Given the description of an element on the screen output the (x, y) to click on. 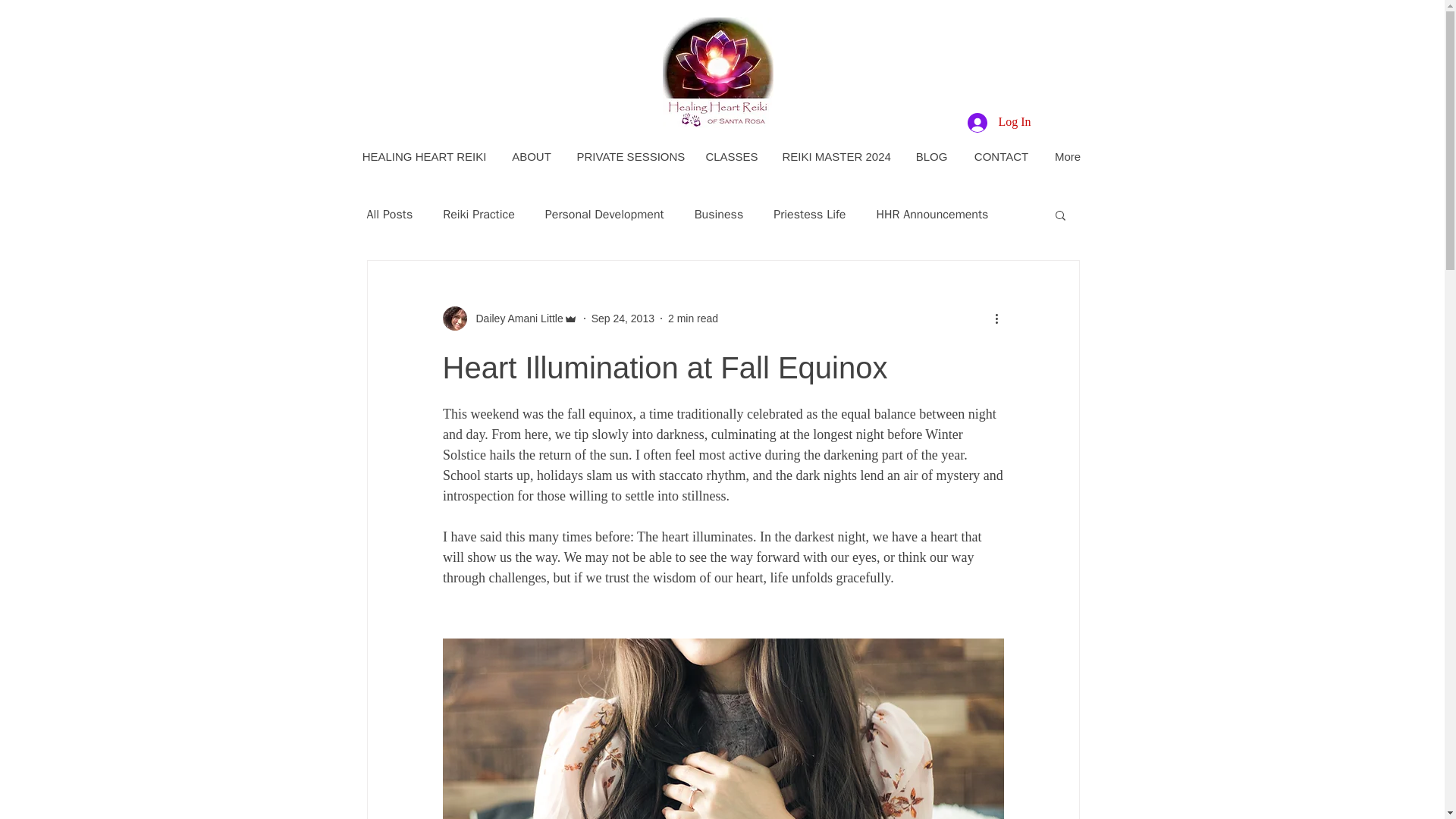
Business (719, 213)
BLOG (930, 157)
Dailey Amani Little (515, 318)
All Posts (389, 213)
Personal Development (603, 213)
Sep 24, 2013 (622, 318)
PRIVATE SESSIONS (628, 157)
ABOUT (530, 157)
CONTACT (1000, 157)
REIKI MASTER 2024 (835, 157)
CLASSES (731, 157)
Priestess Life (809, 213)
Reiki Practice (478, 213)
Healing Heart Reiki Logo (717, 72)
Log In (998, 121)
